Given the description of an element on the screen output the (x, y) to click on. 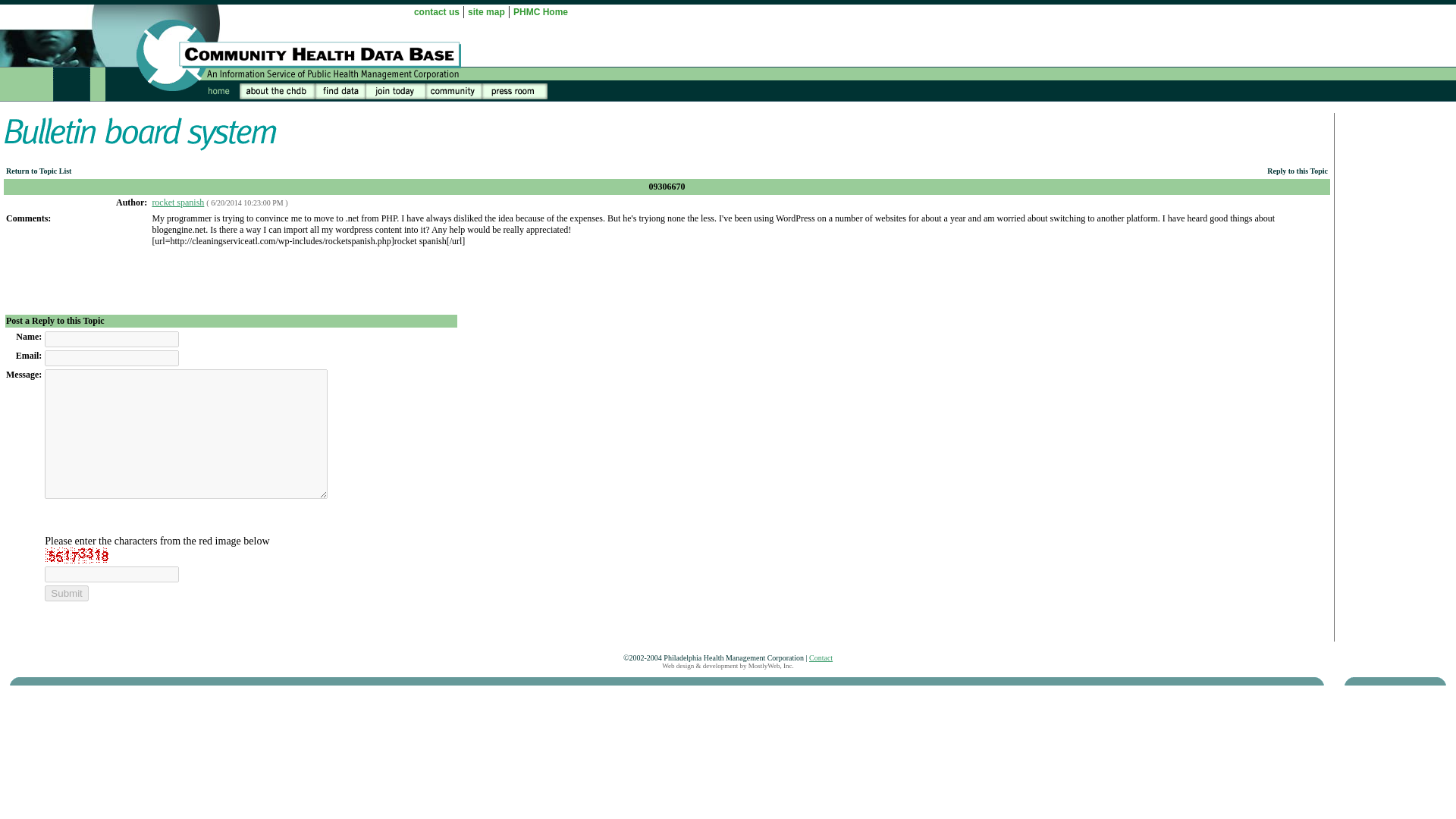
Post a Reply to this Topic (54, 320)
Submit (66, 593)
rocket spanish (177, 202)
Reply to this Topic (1296, 171)
PHMC Home (540, 11)
Return to Topic List (38, 171)
Submit (66, 593)
site map (486, 11)
Contact (820, 657)
contact us (436, 11)
